Given the description of an element on the screen output the (x, y) to click on. 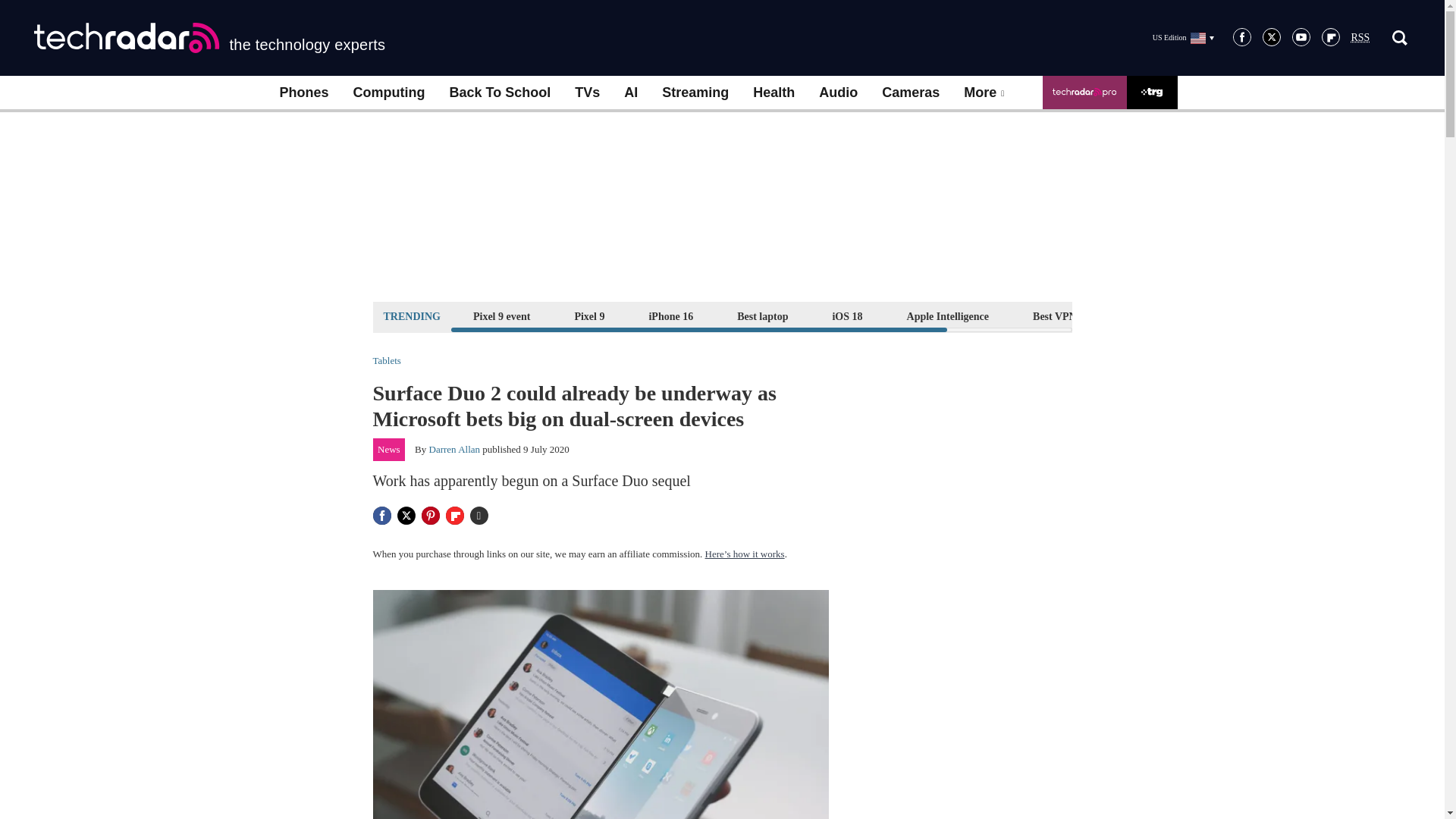
Really Simple Syndication (1360, 37)
Health (773, 92)
Computing (389, 92)
Streaming (695, 92)
Back To School (499, 92)
US Edition (1182, 37)
TVs (586, 92)
Cameras (910, 92)
AI (630, 92)
Phones (303, 92)
